Given the description of an element on the screen output the (x, y) to click on. 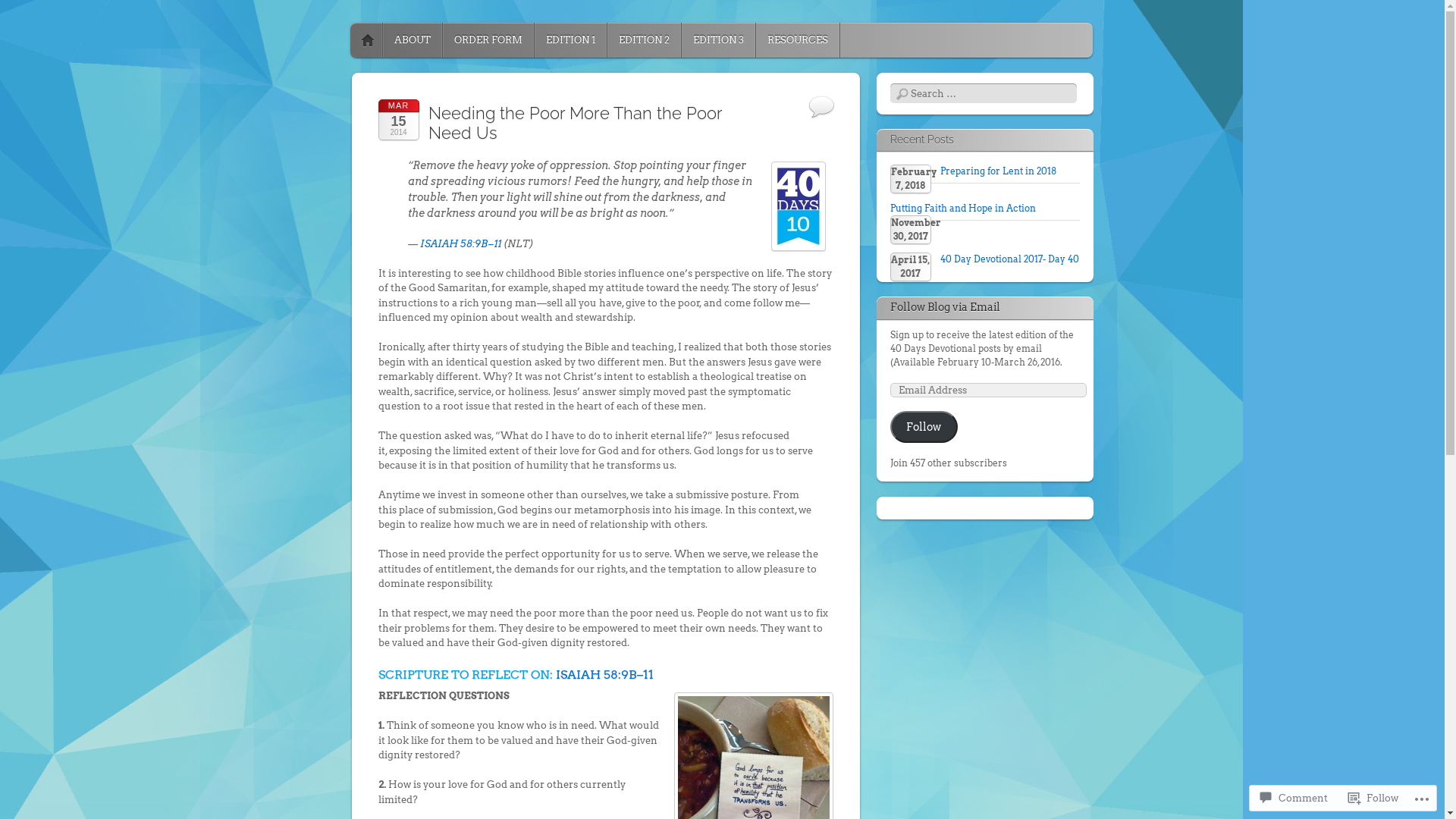
40 Days of Faith and Hope in Action Element type: text (502, 33)
ORDER FORM Element type: text (487, 39)
Comment Element type: text (1293, 797)
EDITION 1 Element type: text (569, 39)
Preparing for Lent in 2018 Element type: text (998, 170)
RESOURCES Element type: text (796, 39)
EDITION 3 Element type: text (717, 39)
EDITION 2 Element type: text (643, 39)
40 Day Devotional 2017- Day 40 Element type: text (1009, 258)
Putting Faith and Hope in Action Element type: text (962, 207)
Search Element type: text (21, 9)
Follow Element type: text (924, 426)
WELCOME Element type: text (367, 39)
Follow Element type: text (1373, 797)
ABOUT Element type: text (411, 39)
Skip to content Element type: text (398, 39)
